Given the description of an element on the screen output the (x, y) to click on. 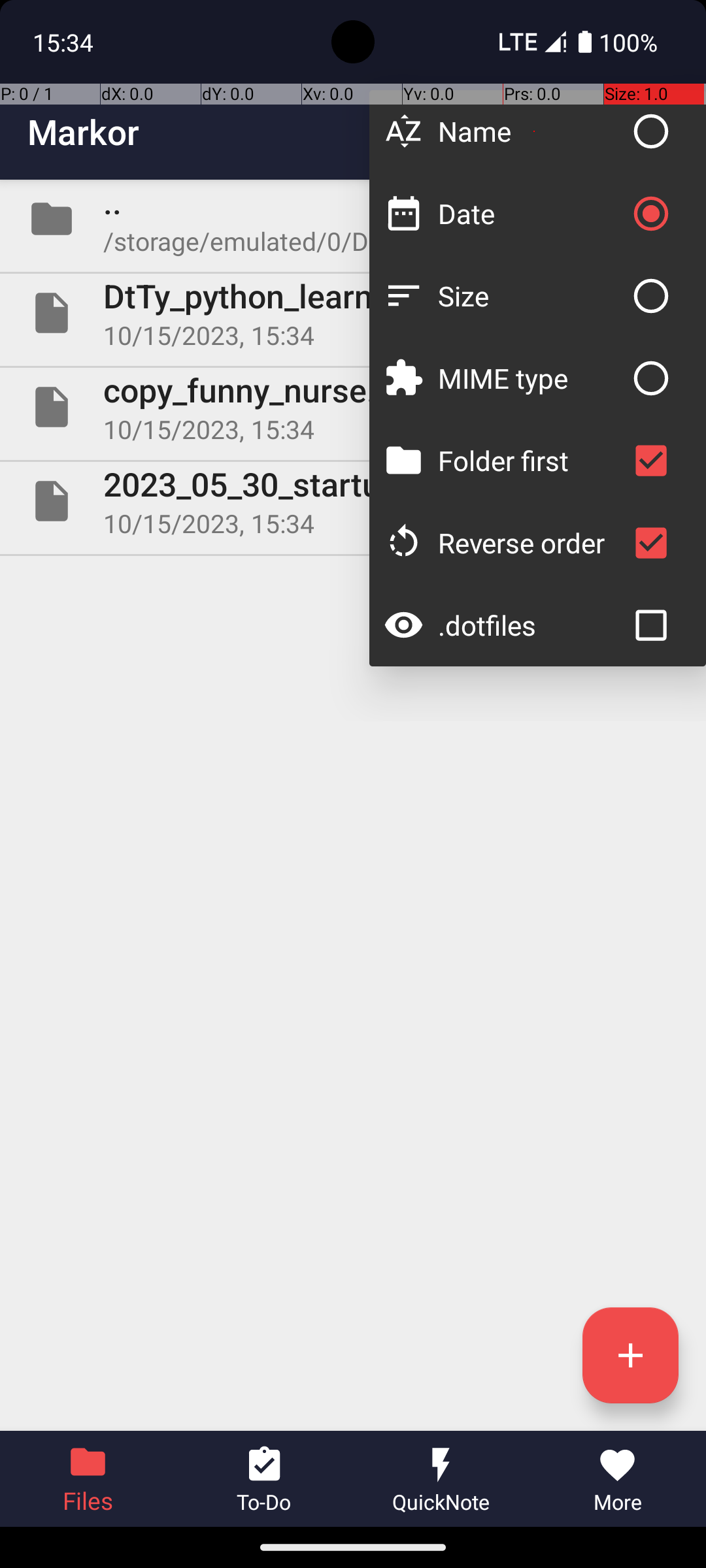
Size Element type: android.widget.TextView (530, 295)
MIME type Element type: android.widget.TextView (530, 377)
Folder first Element type: android.widget.TextView (530, 459)
Reverse order Element type: android.widget.TextView (530, 542)
.dotfiles Element type: android.widget.TextView (530, 624)
